Given the description of an element on the screen output the (x, y) to click on. 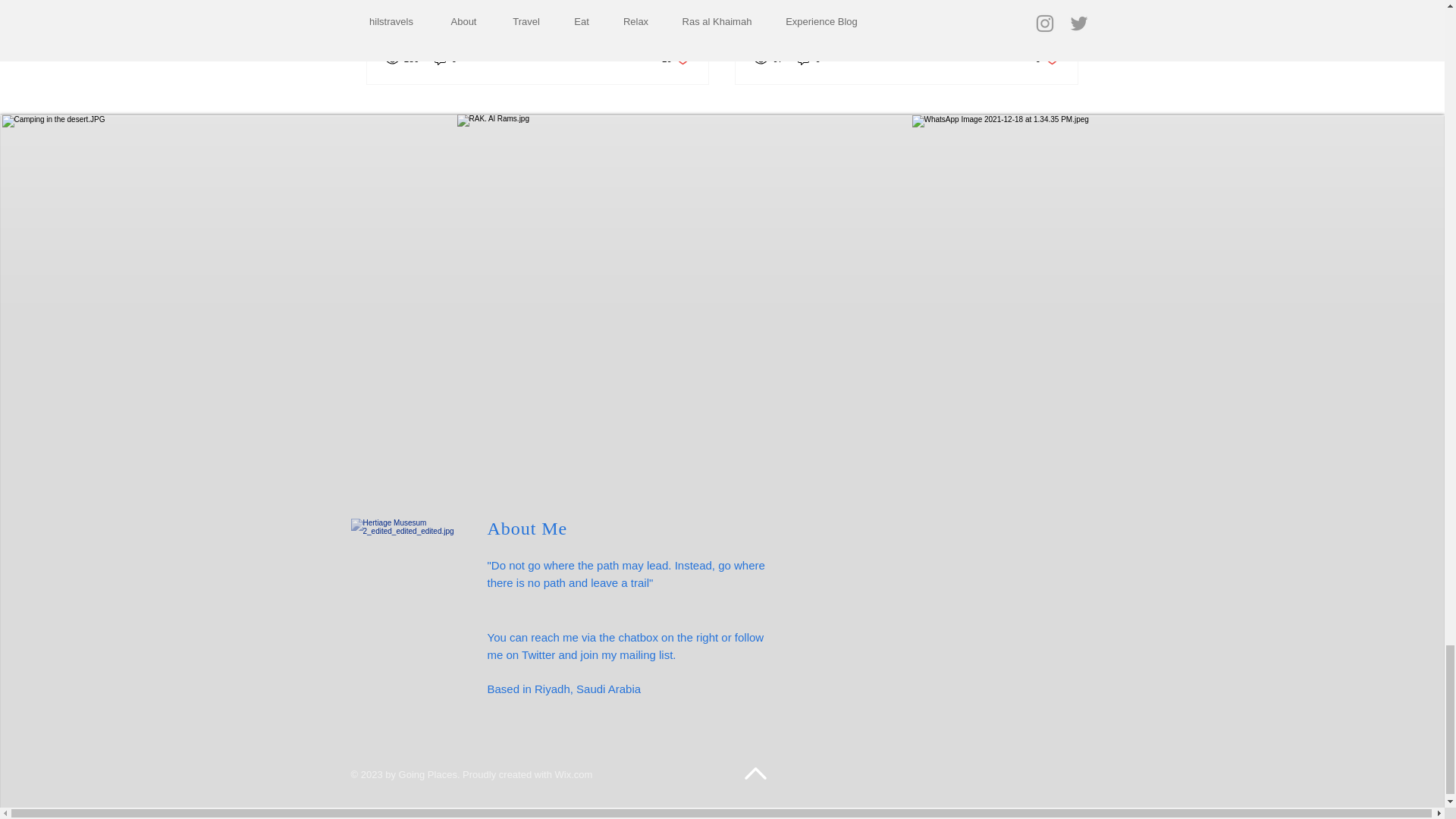
Wix.com (676, 59)
0 (573, 774)
0 (1047, 59)
A Star dusted night in the Saudi desert (809, 59)
